Given the description of an element on the screen output the (x, y) to click on. 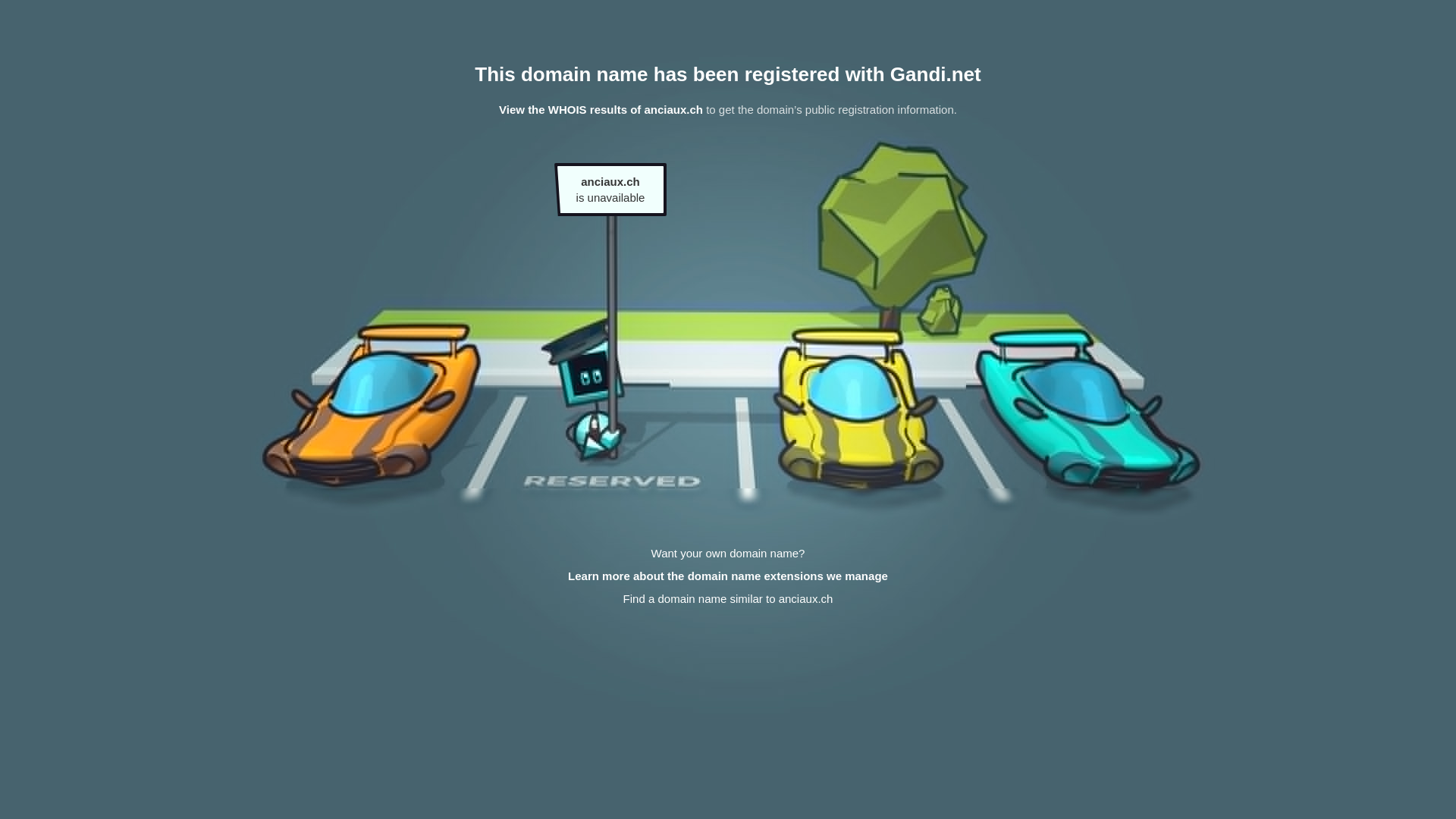
Learn more about the domain name extensions we manage Element type: text (727, 575)
Find a domain name similar to anciaux.ch Element type: text (728, 598)
View the WHOIS results of anciaux.ch Element type: text (600, 109)
